Given the description of an element on the screen output the (x, y) to click on. 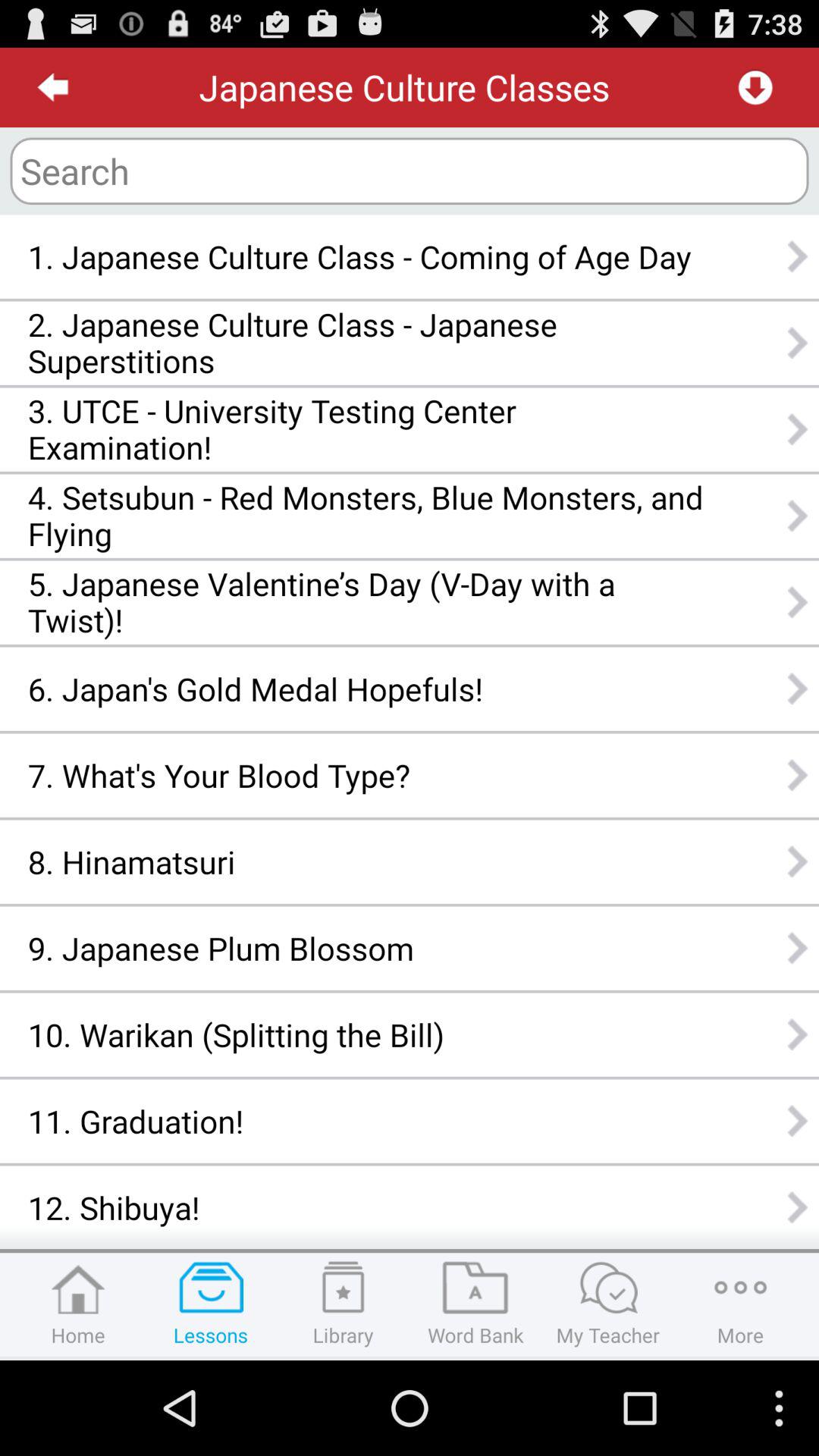
scroll until the 12. shibuya! (365, 1206)
